Given the description of an element on the screen output the (x, y) to click on. 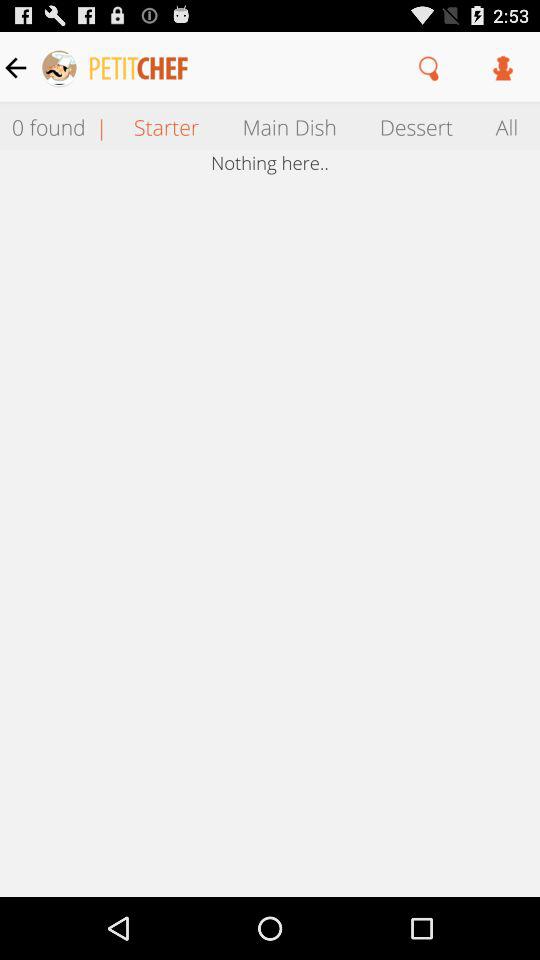
tap icon next to all icon (416, 126)
